Given the description of an element on the screen output the (x, y) to click on. 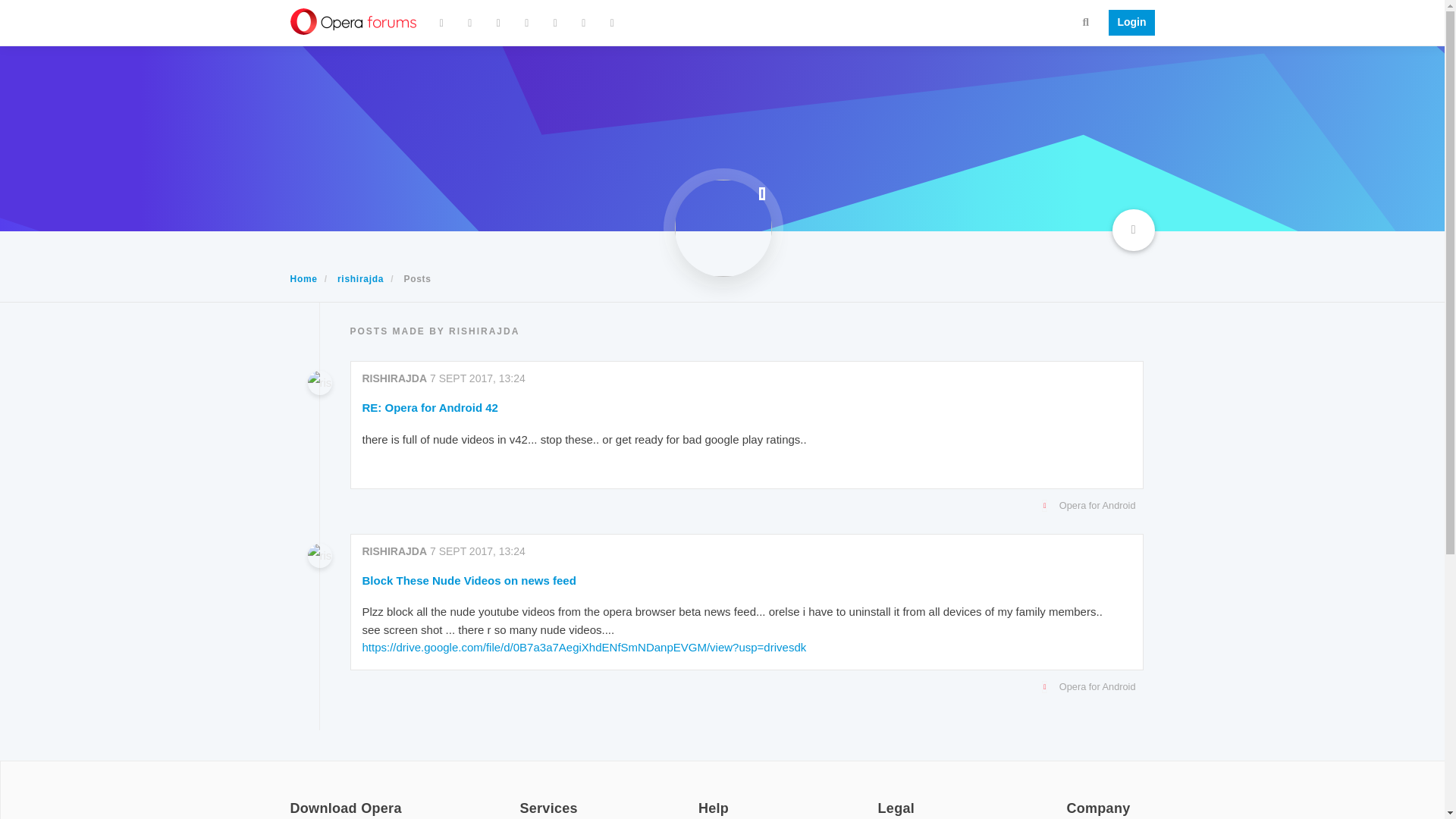
Search (1085, 21)
on (293, 798)
on (523, 798)
on (702, 798)
Login (1127, 22)
RISHIRAJDA (395, 378)
Home (303, 278)
rishirajda (360, 278)
Opera for Android (742, 505)
on (1070, 798)
RE: Opera for Android 42 (429, 407)
on (881, 798)
